Given the description of an element on the screen output the (x, y) to click on. 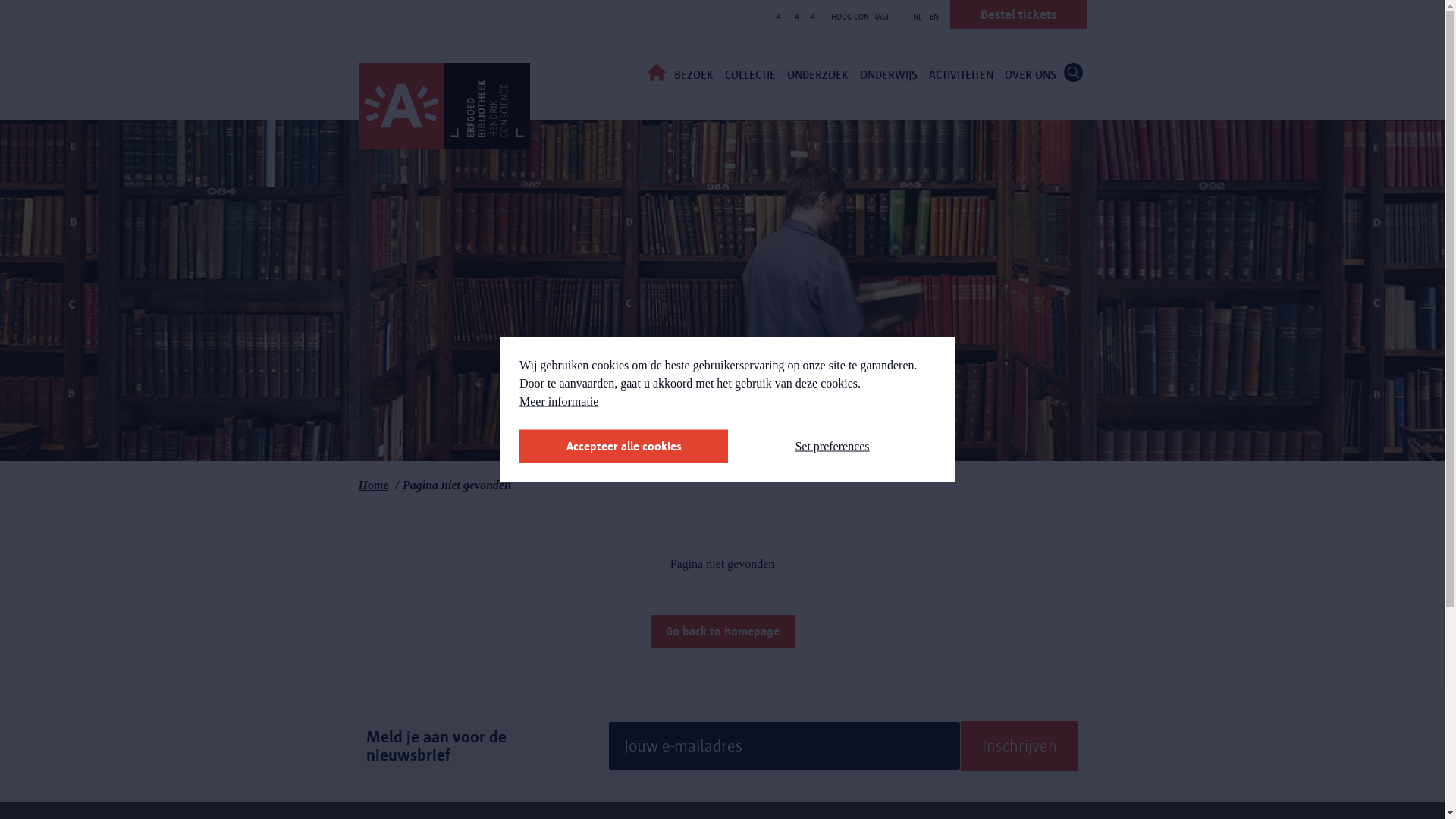
COLLECTIE Element type: text (749, 74)
Home Element type: text (372, 484)
Meer informatie Element type: text (558, 401)
A- Element type: text (779, 16)
Bestel tickets Element type: text (1017, 14)
OVER ONS Element type: text (1030, 74)
A+ Element type: text (814, 16)
Go back to homepage Element type: text (722, 631)
ONDERWIJS Element type: text (887, 74)
EN Element type: text (933, 15)
A Element type: text (796, 16)
BEZOEK Element type: text (693, 74)
HOOG CONTRAST Element type: text (860, 16)
ACTIVITEITEN Element type: text (961, 74)
NL Element type: text (916, 15)
Inschrijven Element type: text (1019, 746)
Set preferences Element type: text (832, 445)
ONDERZOEK Element type: text (816, 74)
Accepteer alle cookies Element type: text (623, 445)
Toestemming intrekken Element type: text (534, 451)
Overslaan en naar de inhoud gaan Element type: text (0, 0)
